Given the description of an element on the screen output the (x, y) to click on. 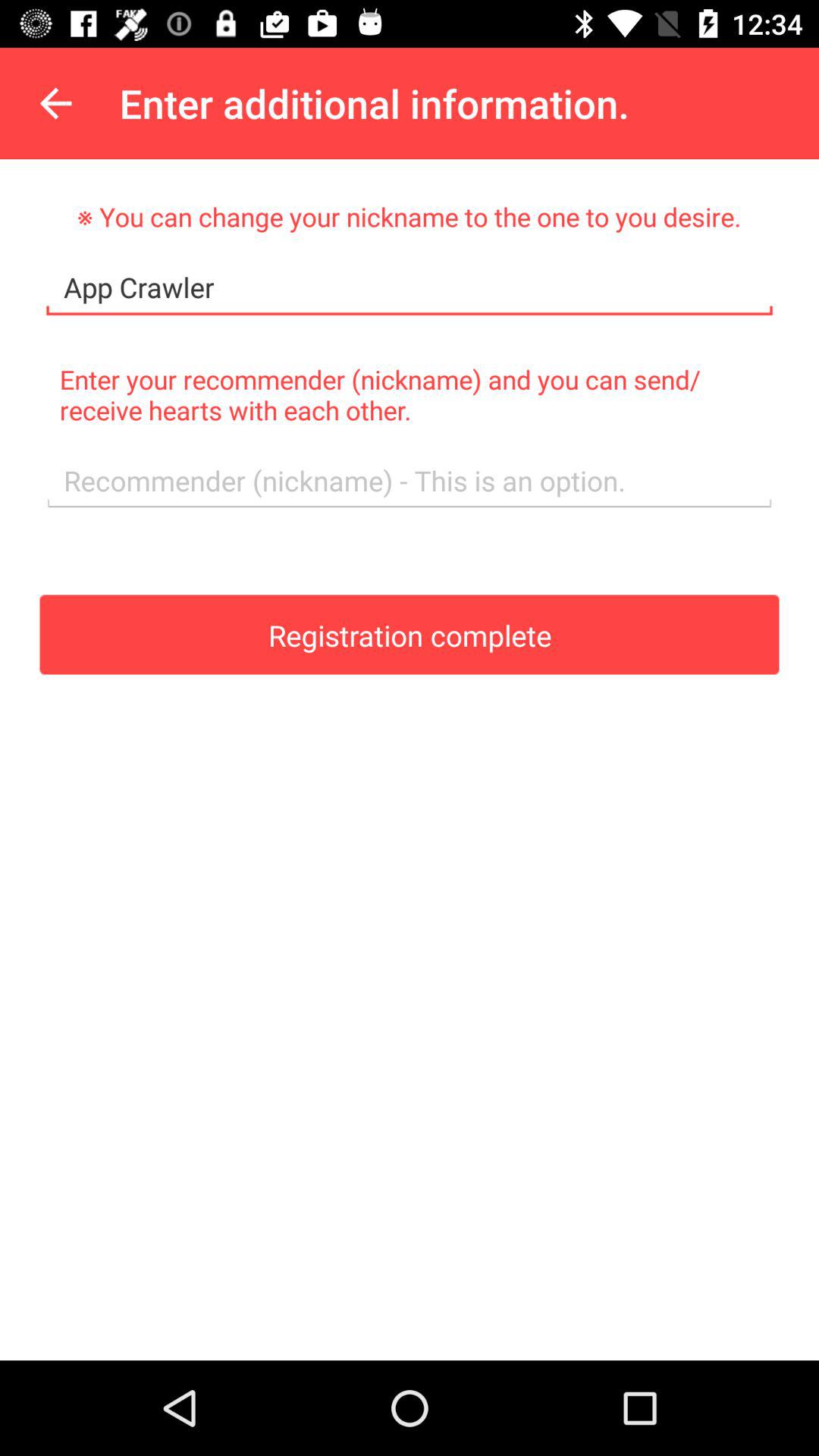
click app crawler item (409, 287)
